Given the description of an element on the screen output the (x, y) to click on. 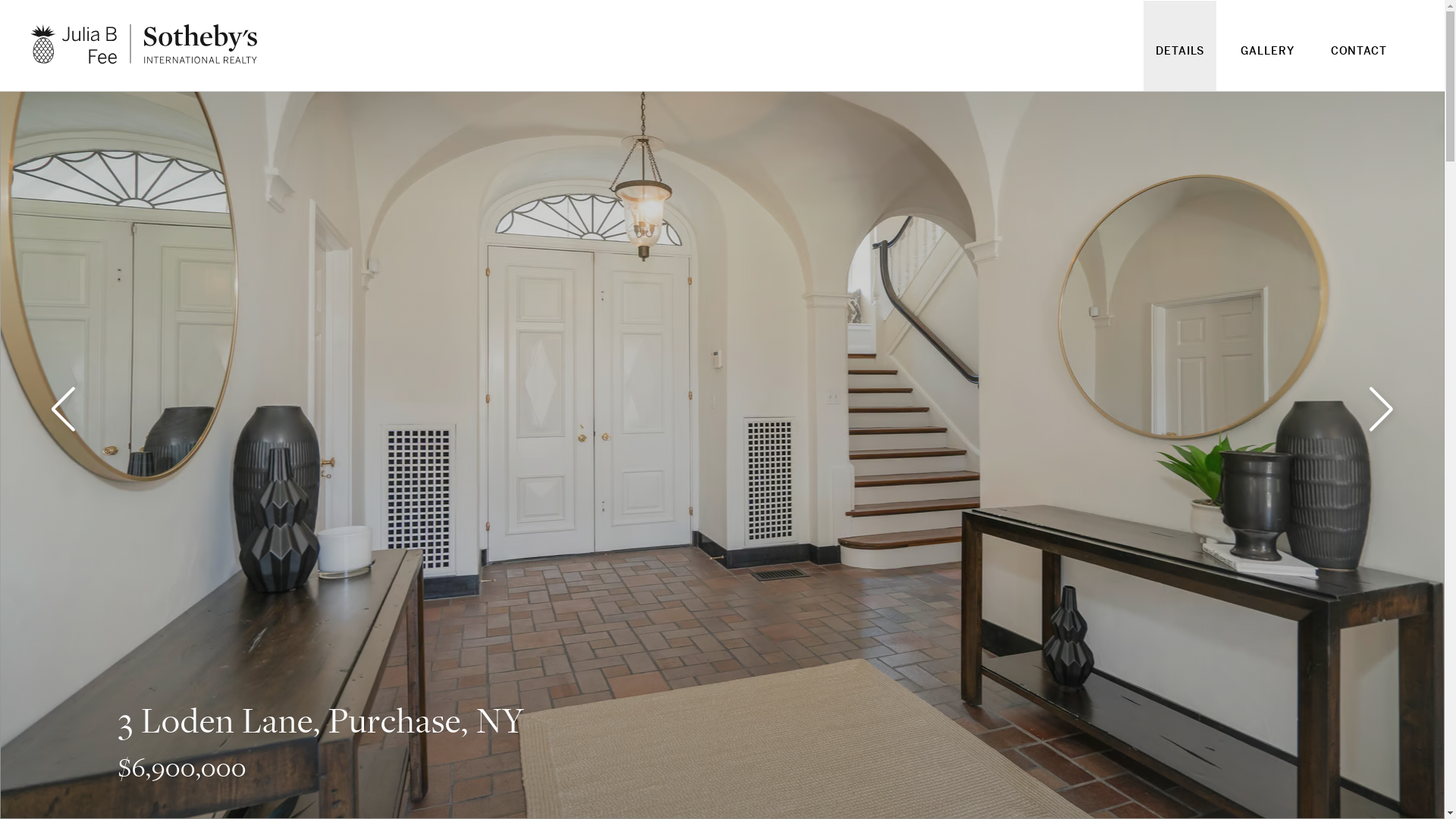
Julia B. Fee SIR Element type: hover (143, 43)
CONTACT Element type: text (1358, 60)
DETAILS Element type: text (1179, 60)
GALLERY Element type: text (1266, 60)
